Given the description of an element on the screen output the (x, y) to click on. 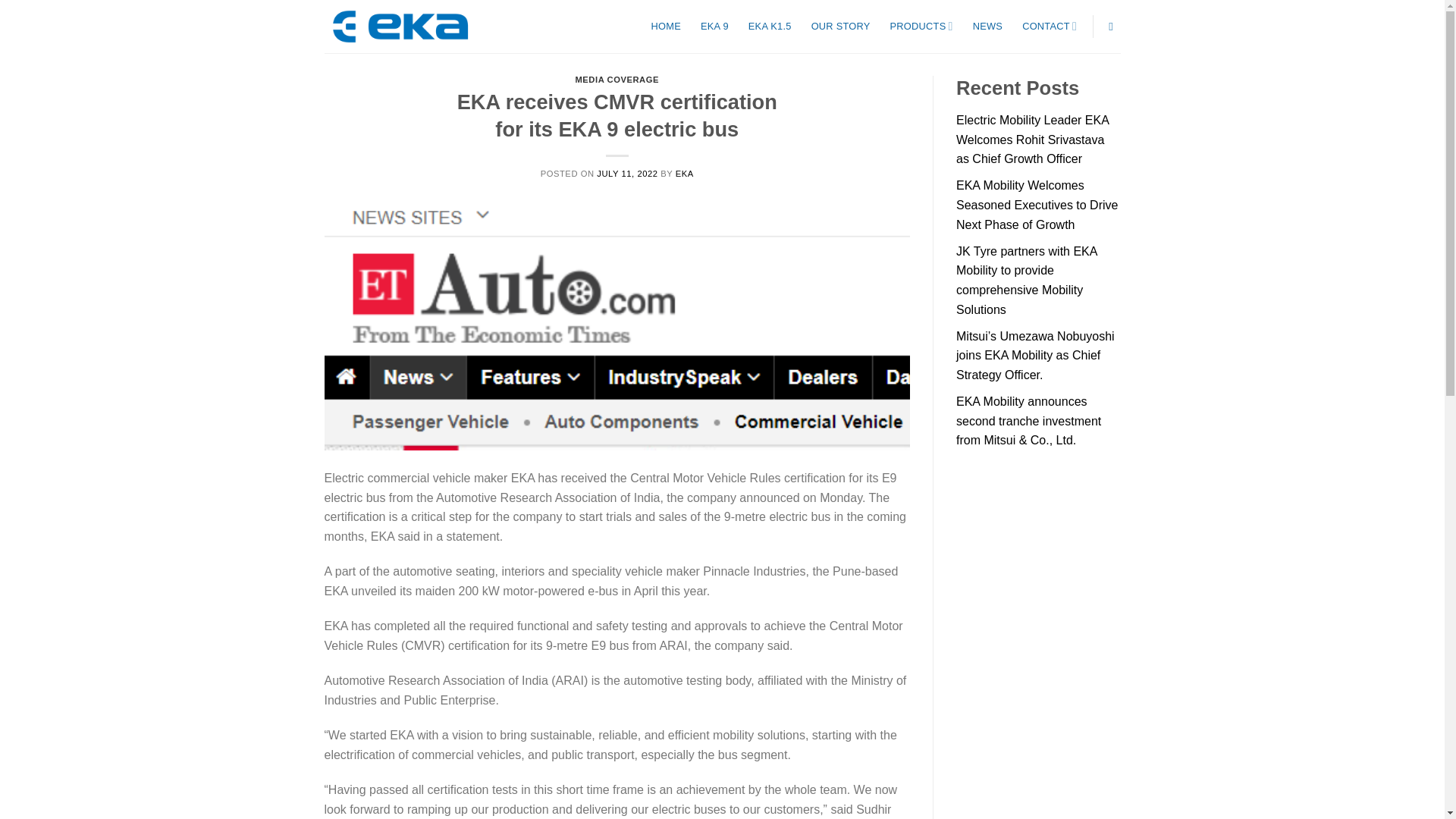
NEWS (987, 26)
PRODUCTS (921, 25)
EKA K1.5 (770, 26)
MEDIA COVERAGE (617, 79)
CONTACT (1049, 25)
HOME (665, 26)
EKA (684, 173)
JULY 11, 2022 (627, 173)
EKA 9 (714, 26)
OUR STORY (840, 26)
